Given the description of an element on the screen output the (x, y) to click on. 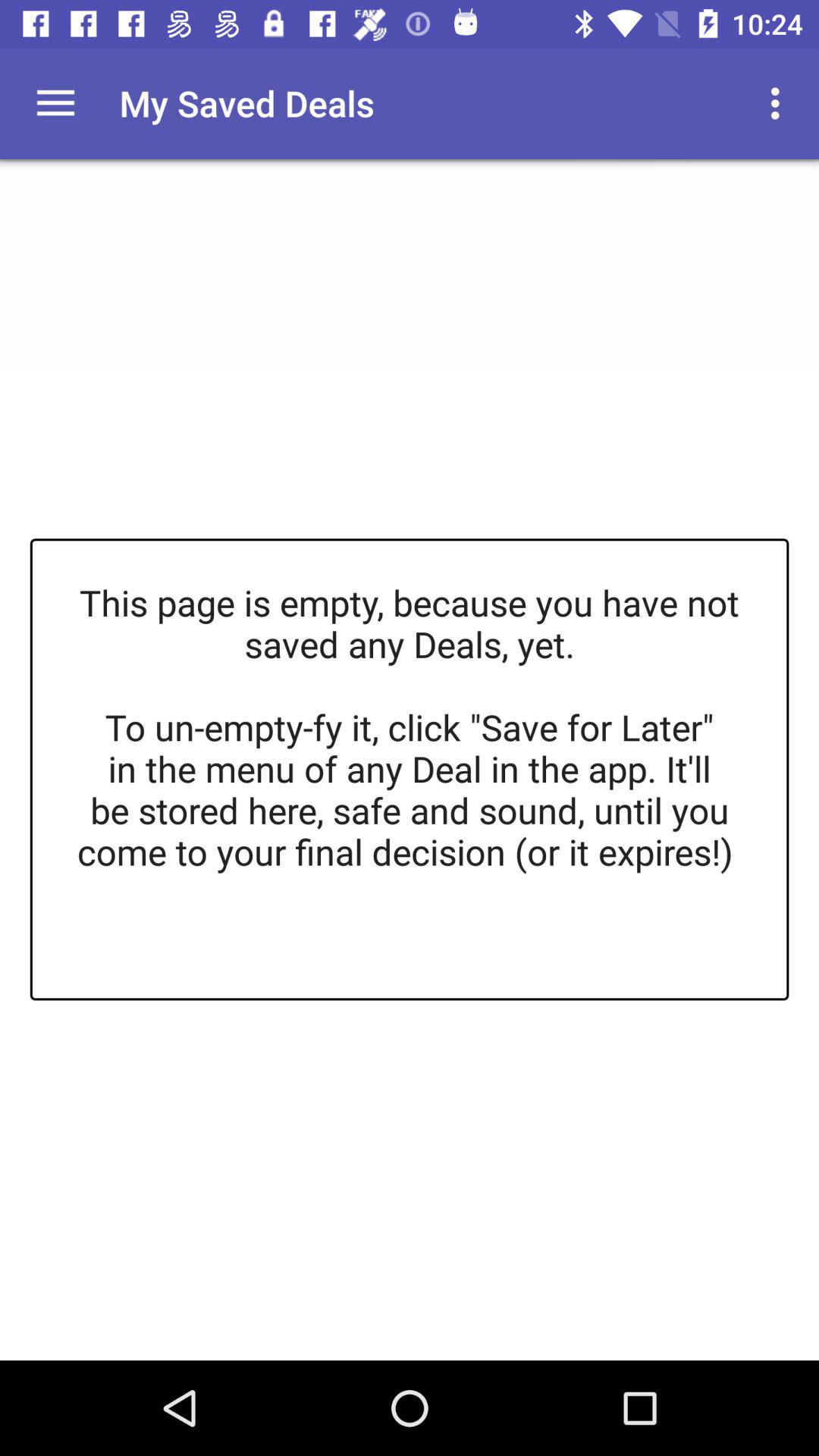
tap the icon next to my saved deals item (55, 103)
